Given the description of an element on the screen output the (x, y) to click on. 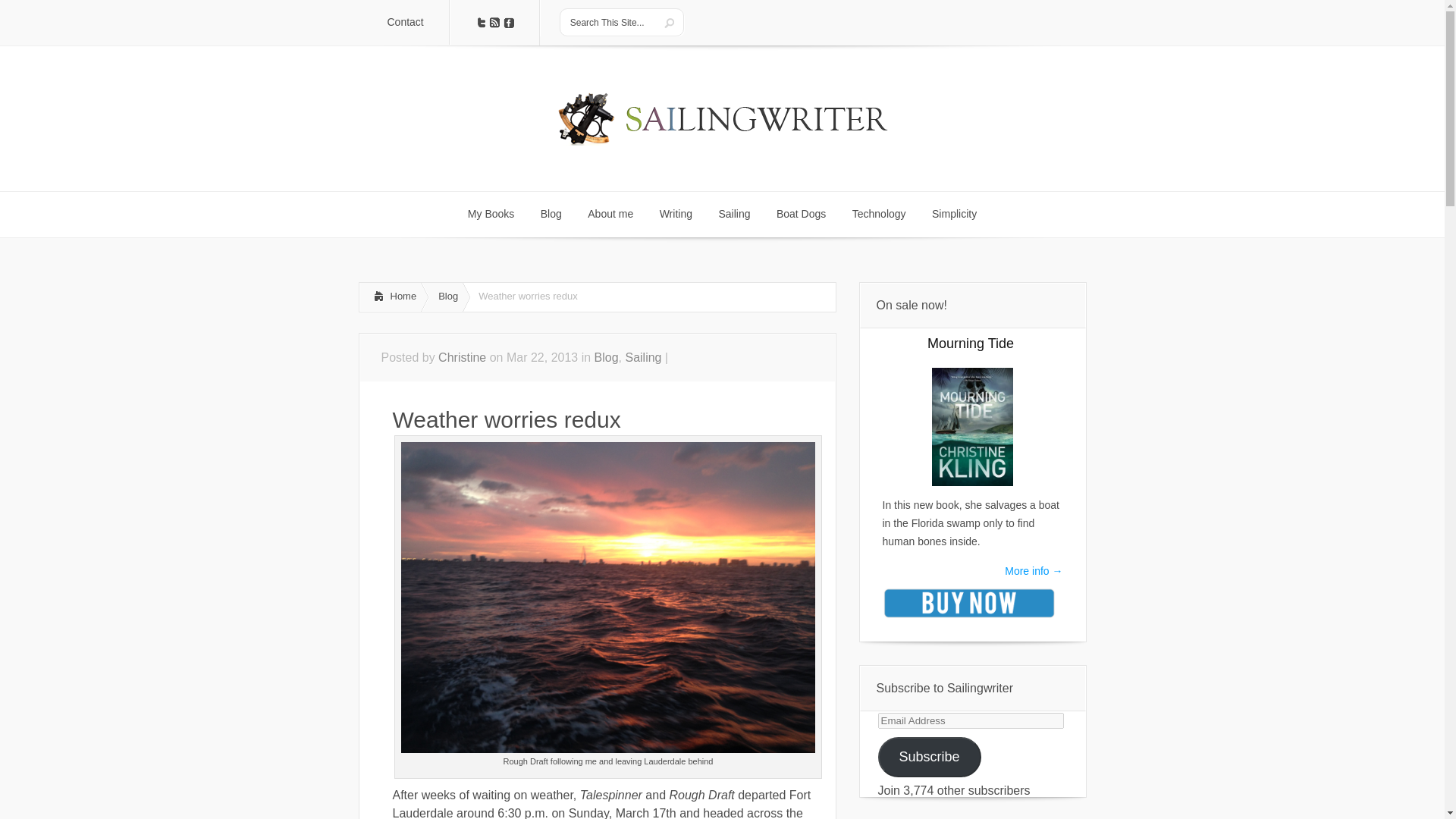
Posts by Christine (462, 357)
Contact (405, 22)
Sailing (733, 213)
Blog (606, 357)
Sailing (642, 357)
Writing (675, 213)
Home (389, 296)
Blog (551, 213)
Christine (462, 357)
Boat Dogs (801, 213)
Blog (446, 296)
Search This Site... (609, 22)
Simplicity (954, 213)
About me (610, 213)
Technology (879, 213)
